Given the description of an element on the screen output the (x, y) to click on. 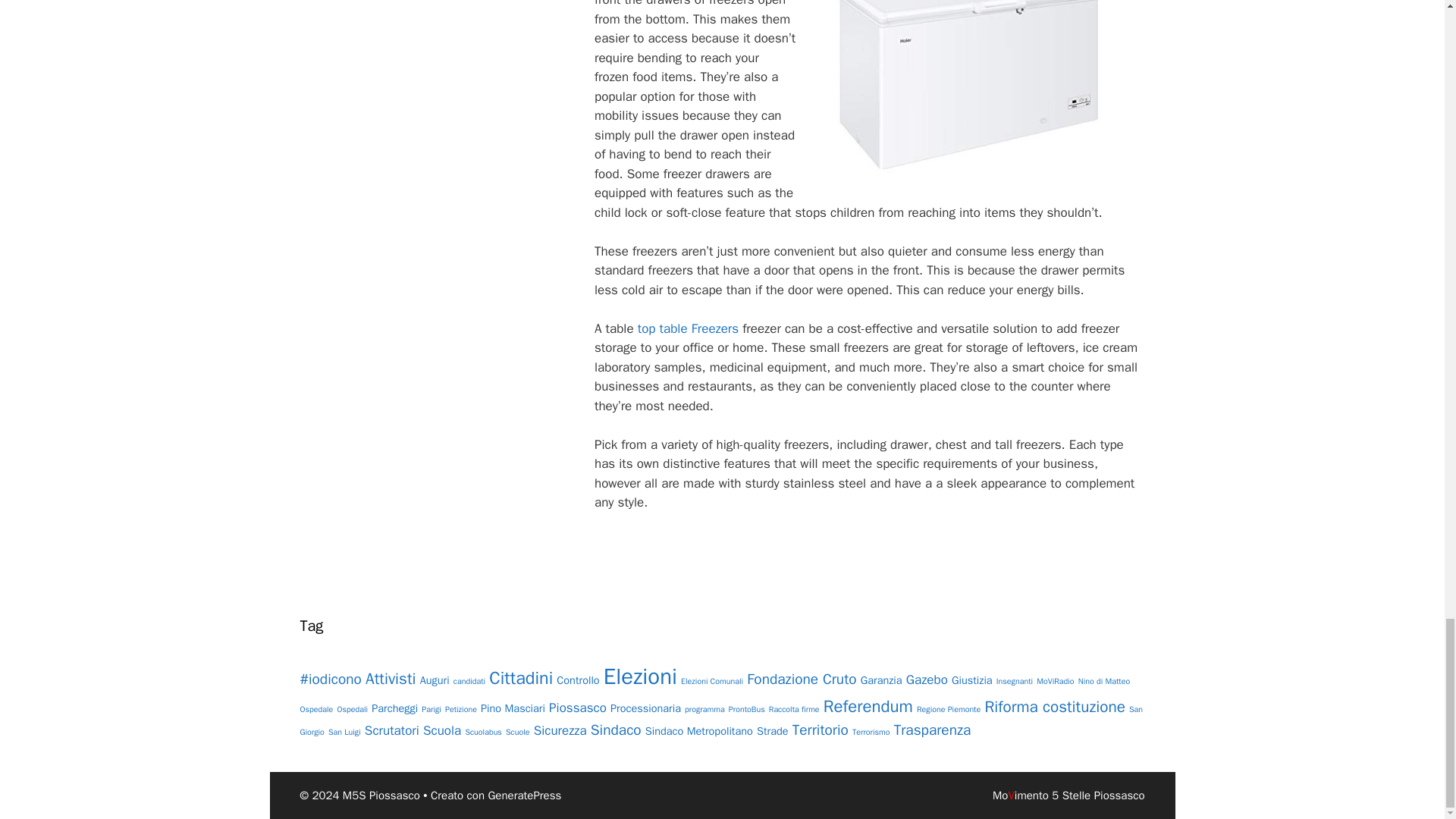
top table Freezers (687, 328)
